Given the description of an element on the screen output the (x, y) to click on. 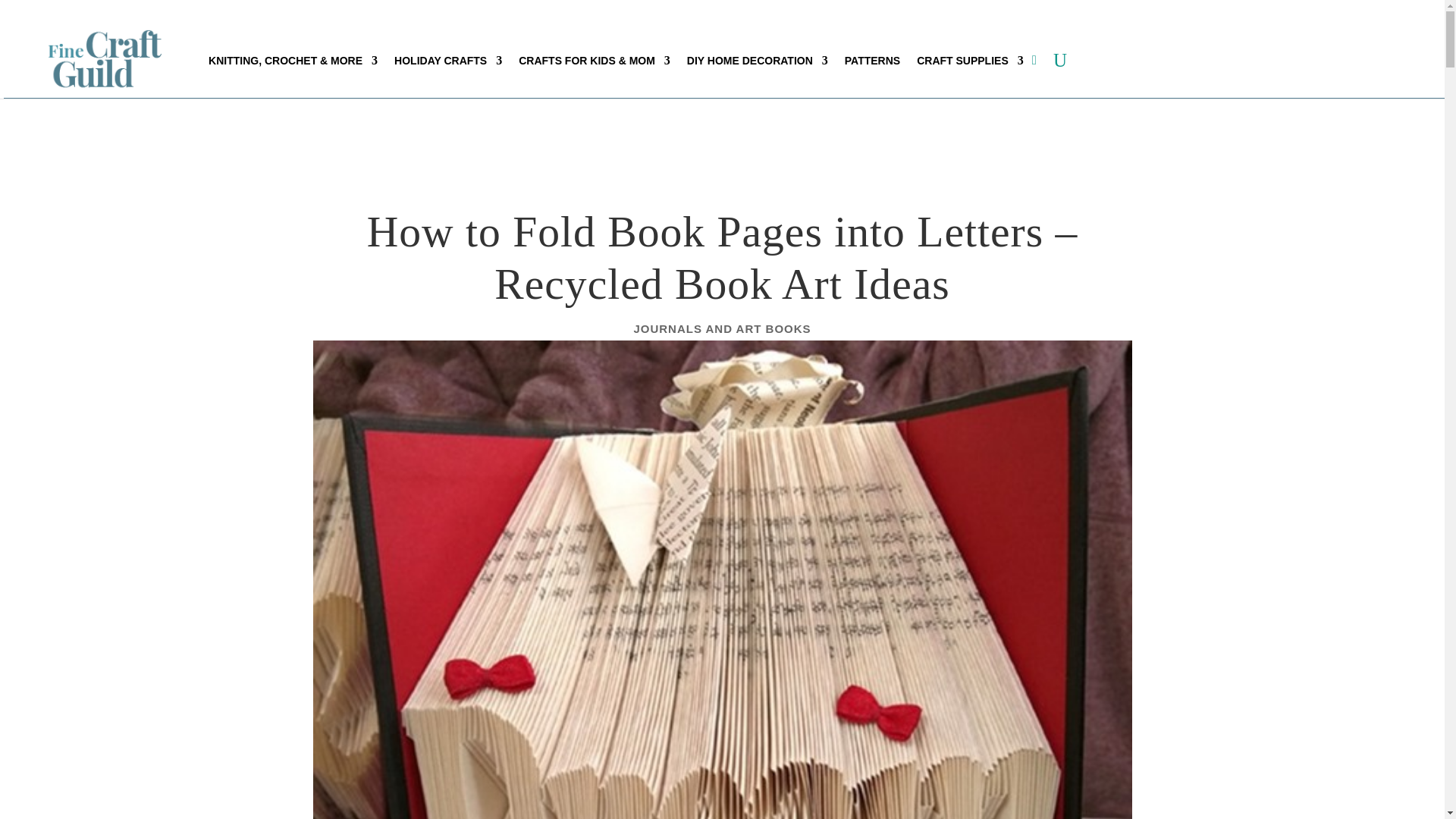
HOLIDAY CRAFTS (448, 60)
Advertisement (757, 137)
JOURNALS AND ART BOOKS (721, 328)
DIY HOME DECORATION (757, 60)
CRAFT SUPPLIES (970, 60)
